Given the description of an element on the screen output the (x, y) to click on. 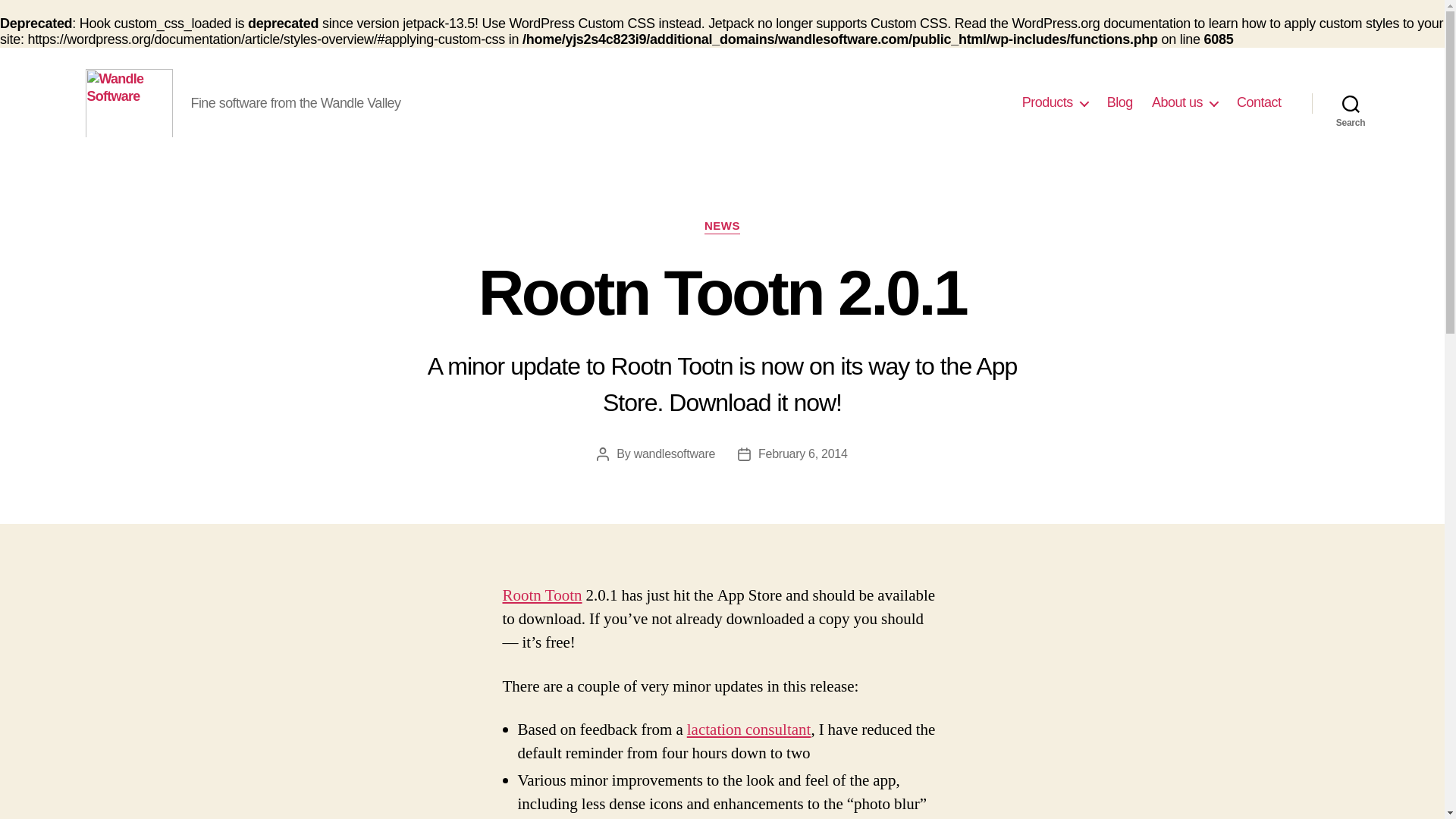
Contact (1258, 103)
February 6, 2014 (802, 453)
wandlesoftware (673, 453)
Search (1350, 102)
lactation consultant (748, 729)
About us (1184, 103)
Blog (1119, 103)
Rootn Tootn (541, 595)
Products (1054, 103)
Rootn Tootn (541, 595)
